Given the description of an element on the screen output the (x, y) to click on. 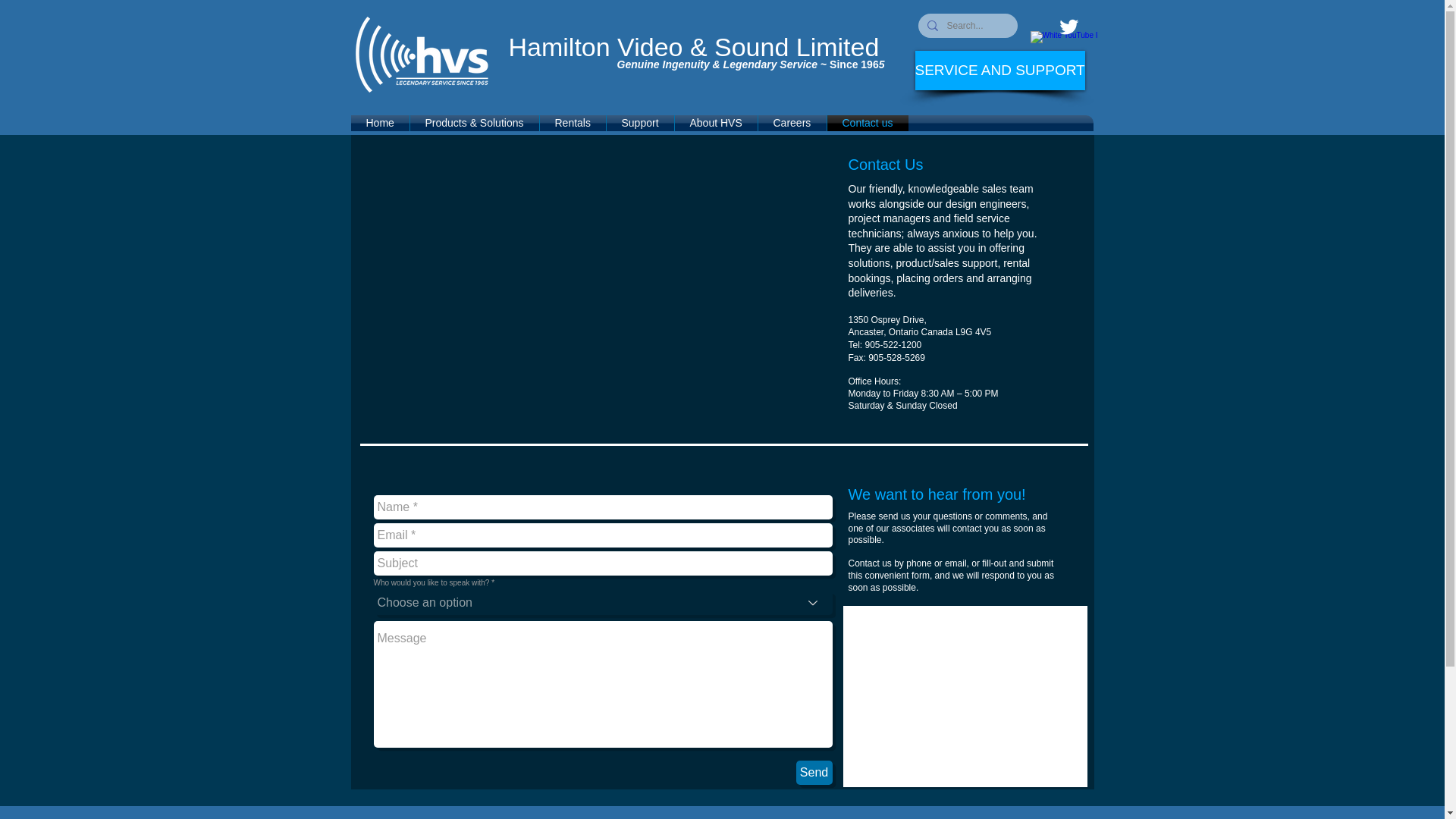
About HVS (716, 123)
Careers (792, 123)
SERVICE AND SUPPORT (999, 70)
Send (814, 772)
Rentals (572, 123)
Logo.png (426, 812)
Home (379, 123)
Contact us (867, 123)
Support (640, 123)
